Given the description of an element on the screen output the (x, y) to click on. 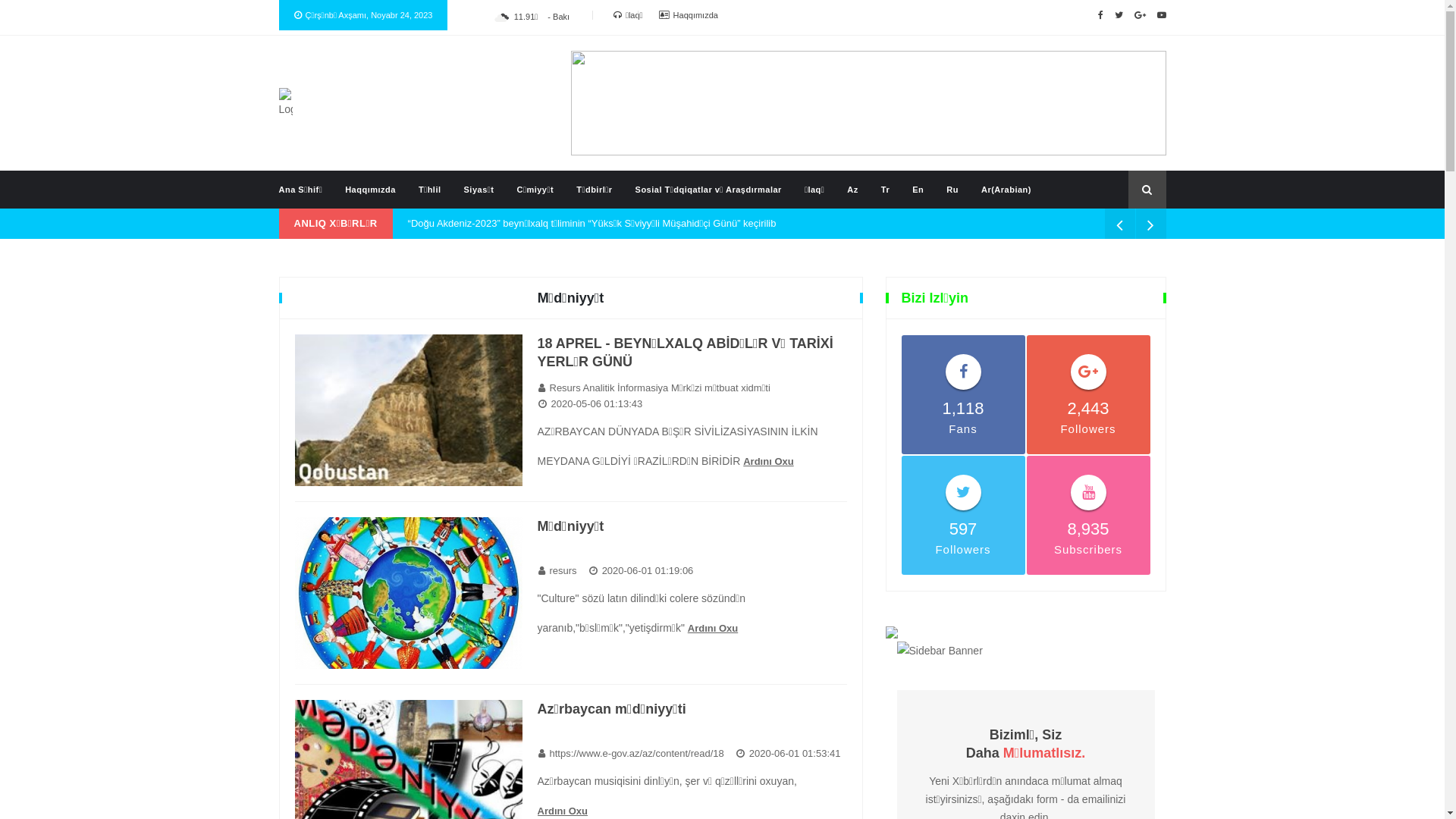
Ru Element type: text (952, 189)
En Element type: text (917, 189)
resurs Element type: text (556, 570)
Az Element type: text (852, 189)
8,935
Subscribers Element type: text (1088, 514)
Tr Element type: text (885, 189)
Ar(Arabian) Element type: text (1006, 189)
1,118
Fans Element type: text (962, 394)
597
Followers Element type: text (962, 514)
2,443
Followers Element type: text (1088, 394)
https://www.e-gov.az/az/content/read/18 Element type: text (629, 753)
